Given the description of an element on the screen output the (x, y) to click on. 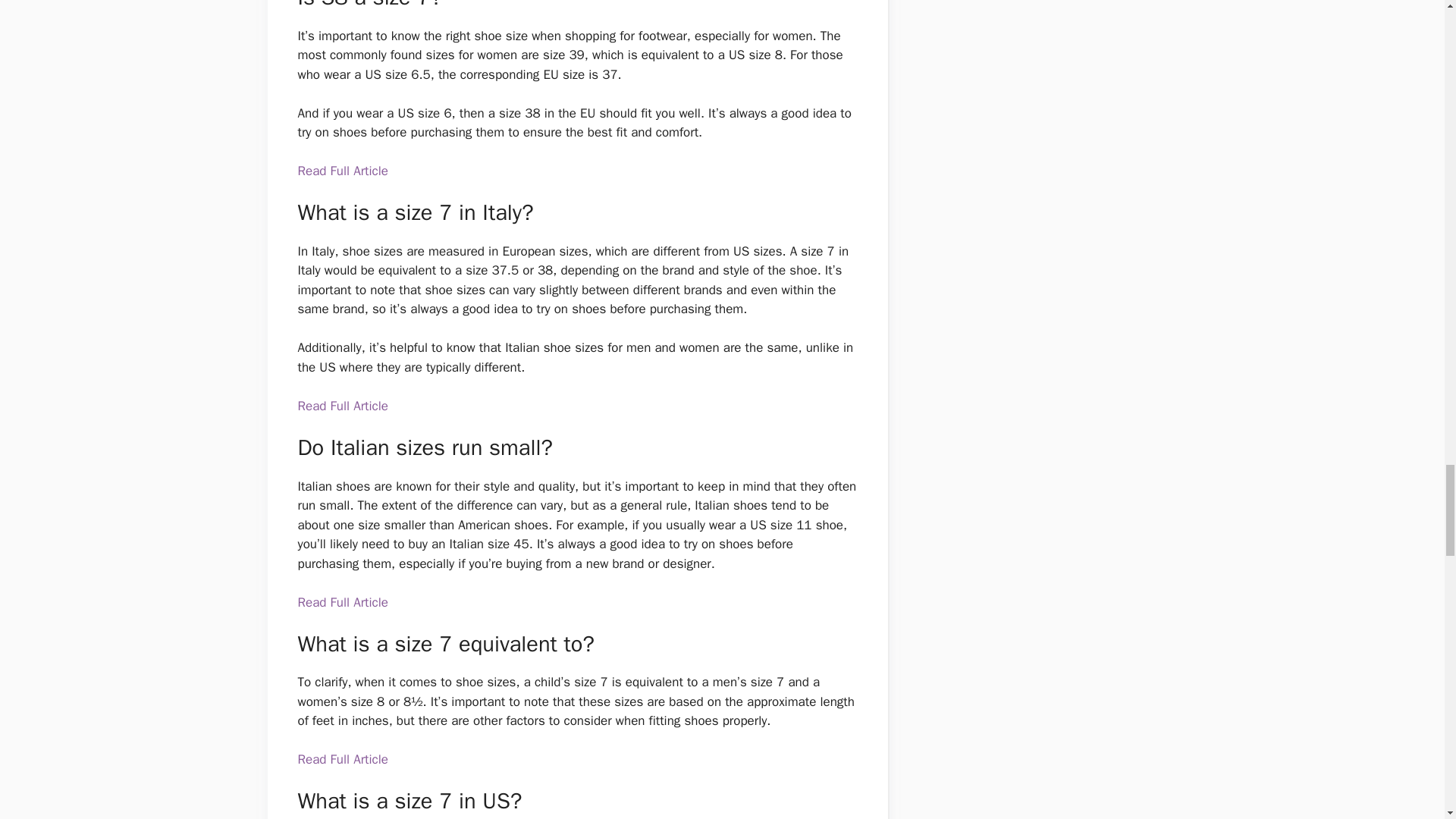
Read Full Article (342, 602)
Read Full Article (342, 406)
Read Full Article (342, 170)
Read Full Article (342, 759)
